Given the description of an element on the screen output the (x, y) to click on. 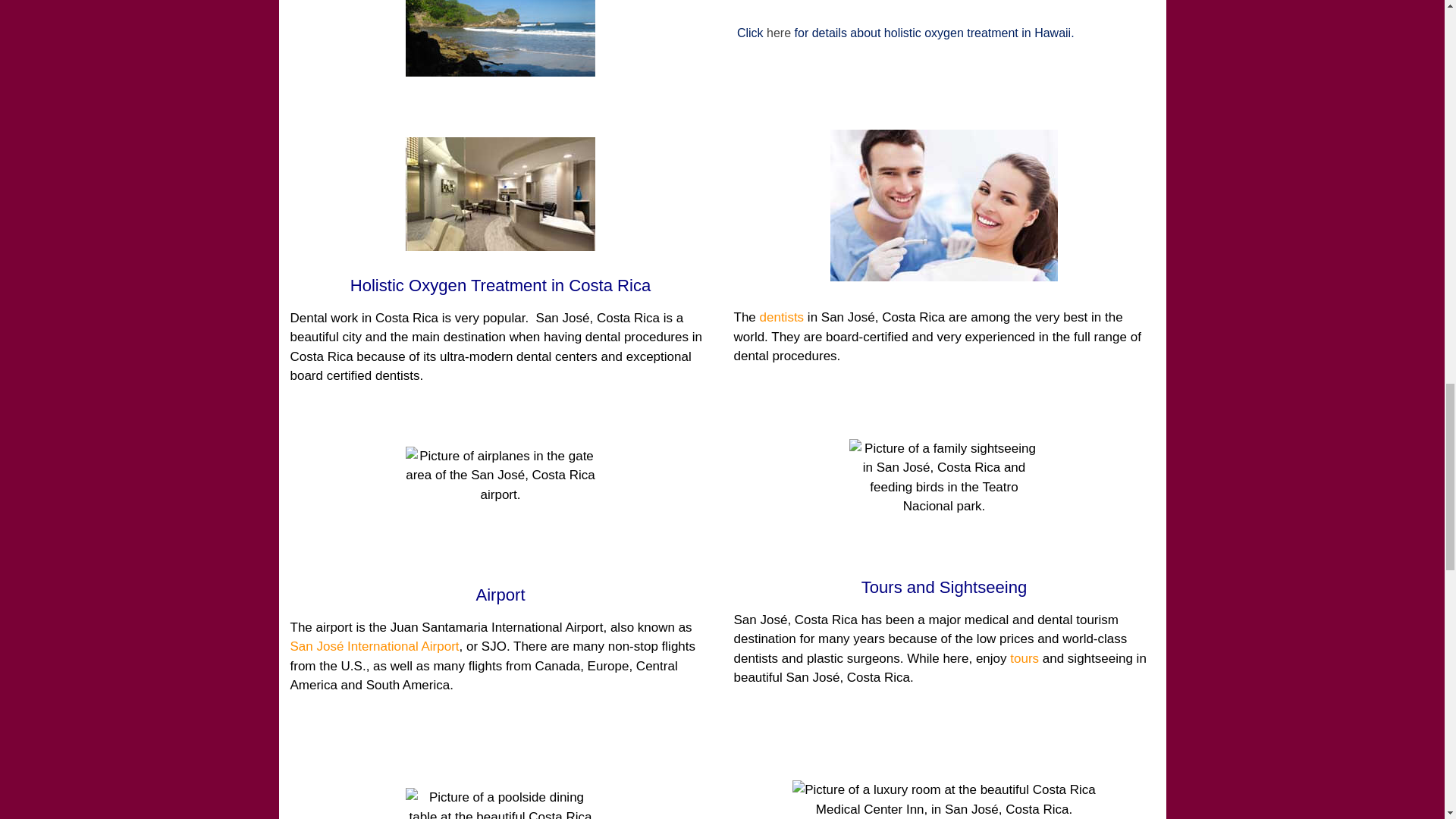
here (778, 32)
tours (1024, 658)
junior-suite-bedroom (944, 799)
dentists (782, 317)
packages-picture (500, 38)
dentist-and-patient (943, 205)
dental-office (500, 193)
restaurant-and-pool (500, 803)
city-tour (943, 495)
san-jose-airport (500, 503)
